Given the description of an element on the screen output the (x, y) to click on. 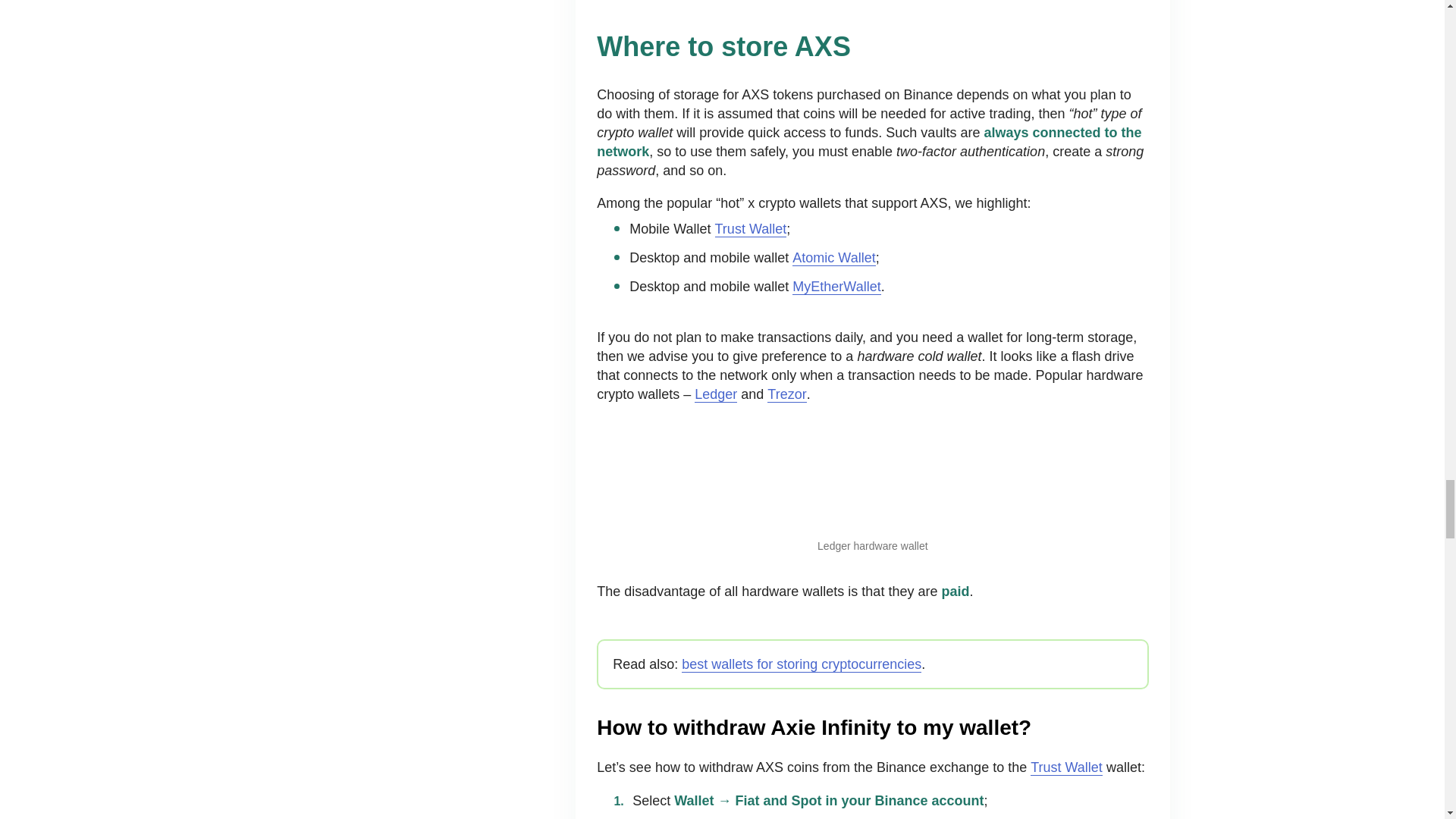
best wallets for storing cryptocurrencies (801, 664)
Trezor (786, 394)
Atomic Wallet (833, 258)
Ledger (715, 394)
MyEtherWallet (836, 286)
Trust Wallet (750, 229)
Trust Wallet (1066, 767)
